Given the description of an element on the screen output the (x, y) to click on. 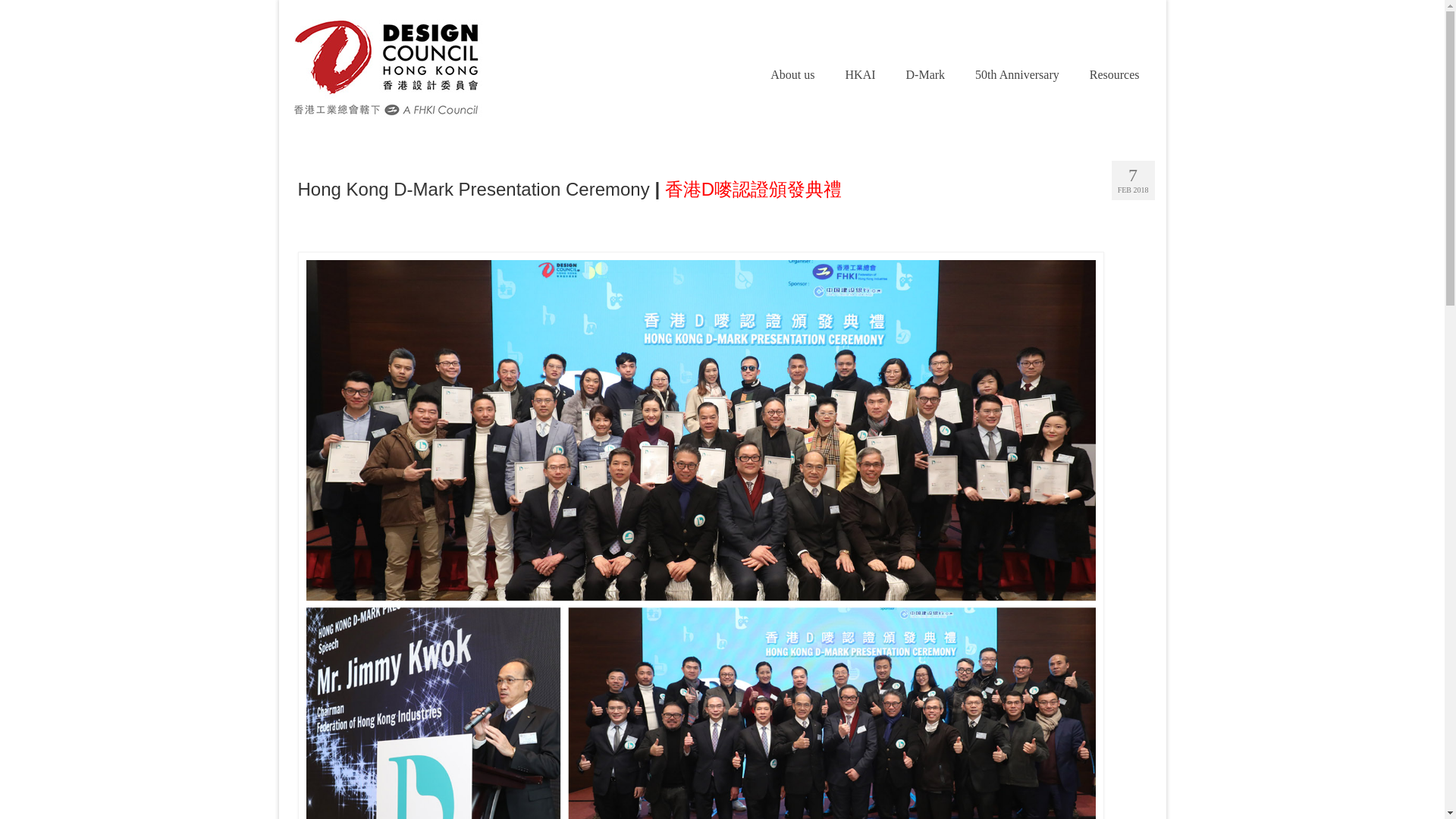
50th Anniversary (1016, 74)
HKAI (860, 74)
About us (792, 74)
D-Mark (925, 74)
DCHK (425, 68)
